Given the description of an element on the screen output the (x, y) to click on. 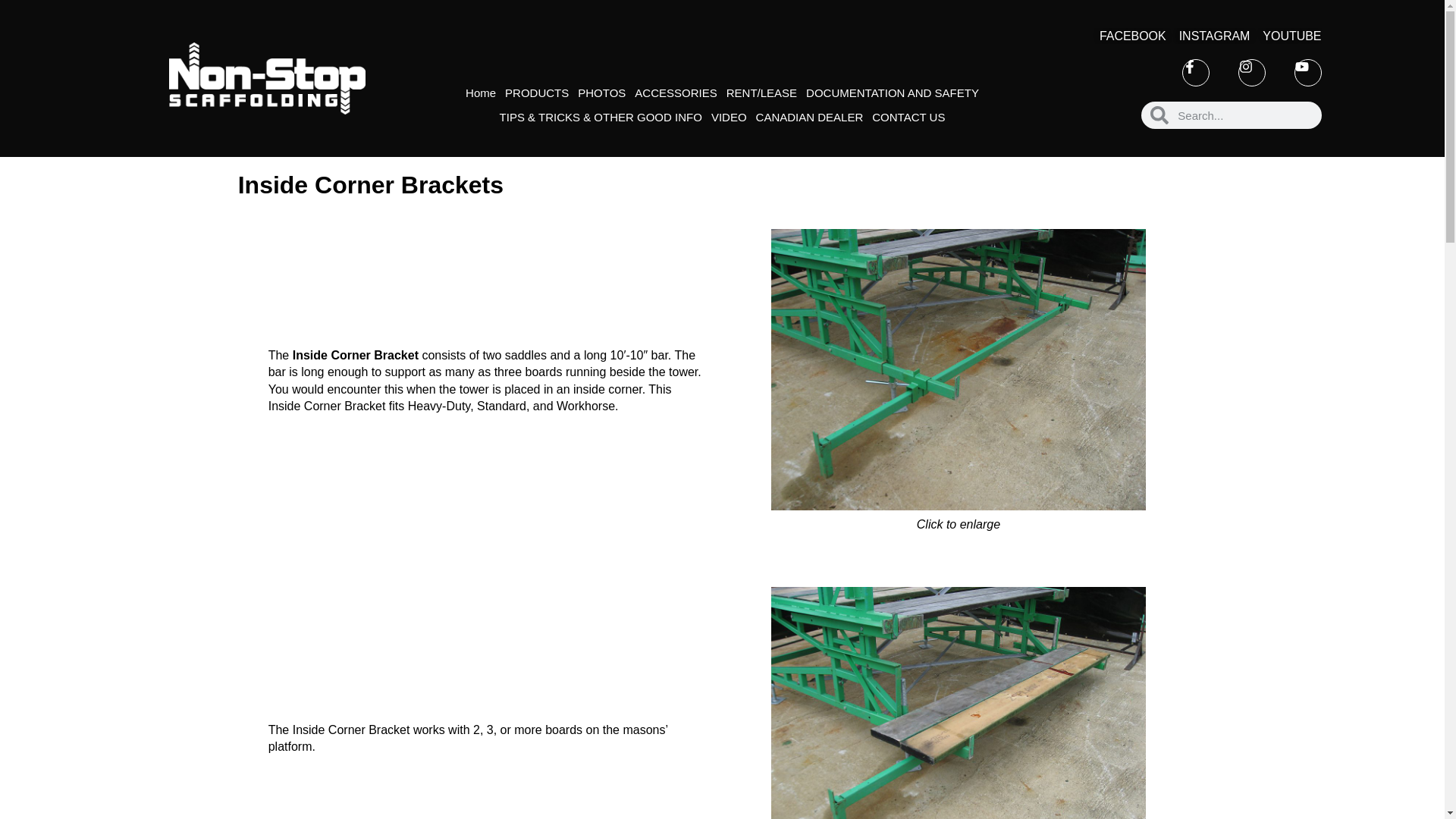
DOCUMENTATION AND SAFETY (893, 92)
PHOTOS (601, 92)
PRODUCTS (536, 92)
CANADIAN DEALER (809, 116)
CONTACT US (908, 116)
ACCESSORIES (675, 92)
Home (480, 92)
VIDEO (728, 116)
